Given the description of an element on the screen output the (x, y) to click on. 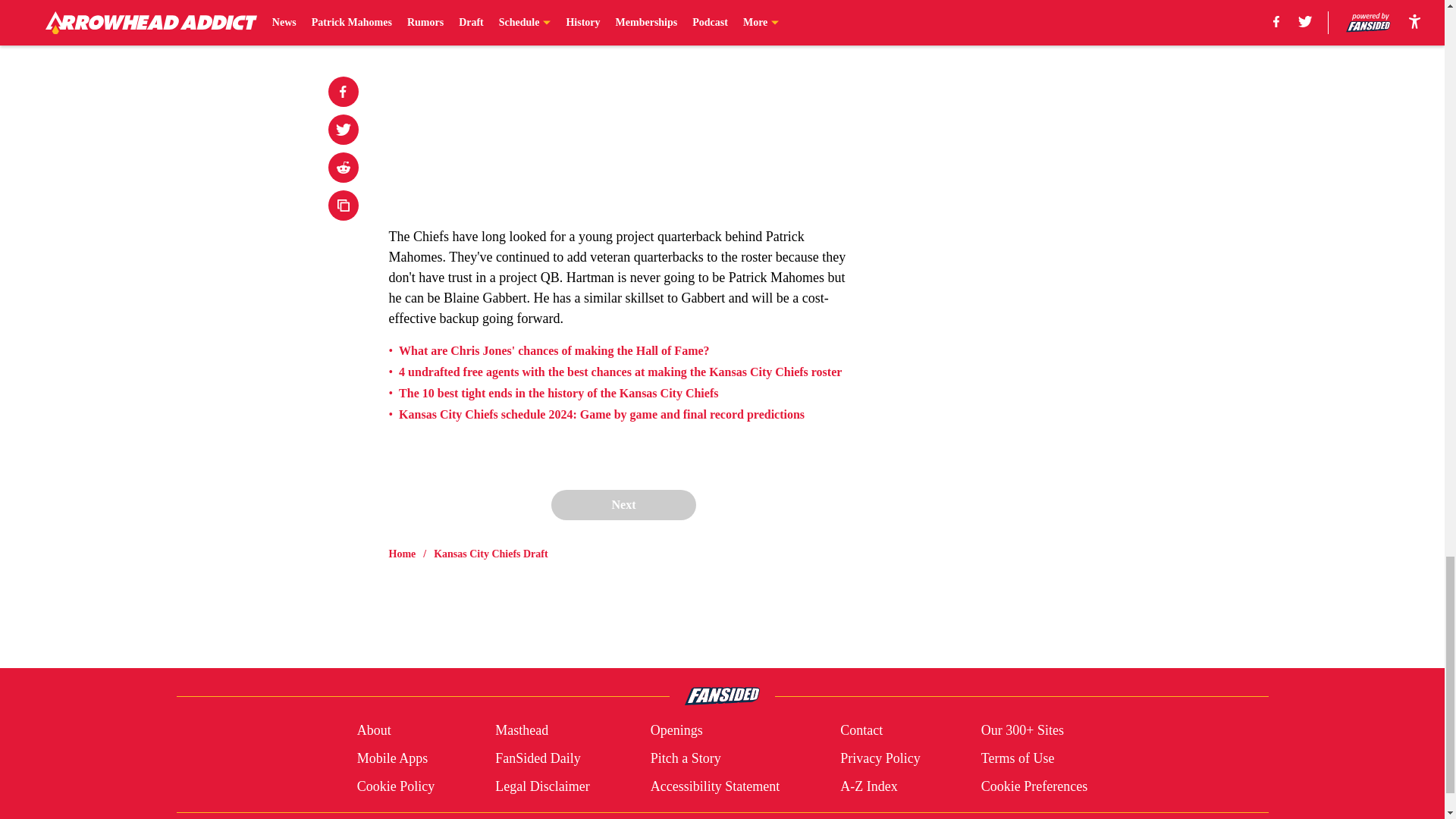
What are Chris Jones' chances of making the Hall of Fame? (553, 350)
Next (622, 504)
